Given the description of an element on the screen output the (x, y) to click on. 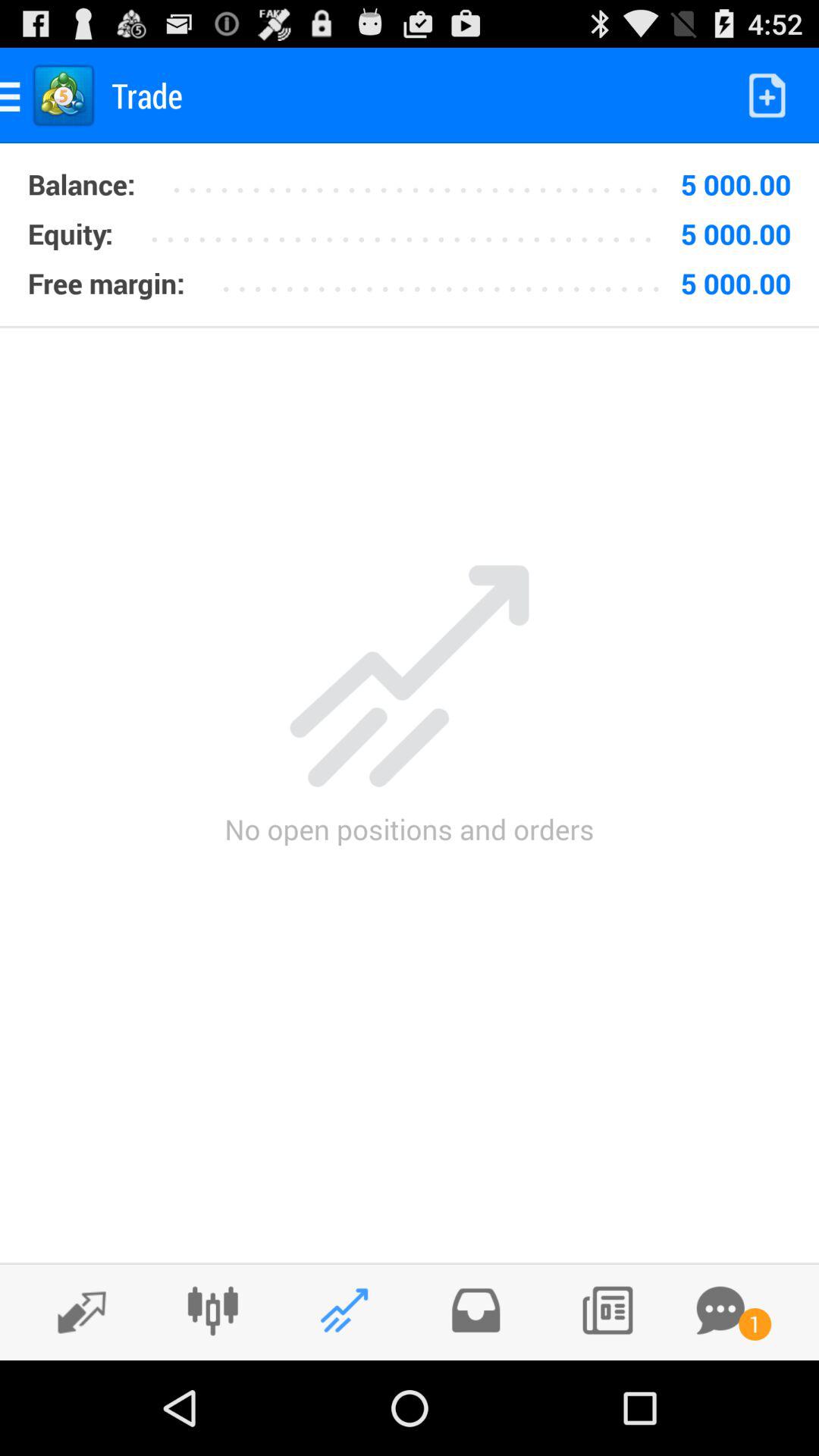
turn on the item below the balance: item (70, 233)
